Given the description of an element on the screen output the (x, y) to click on. 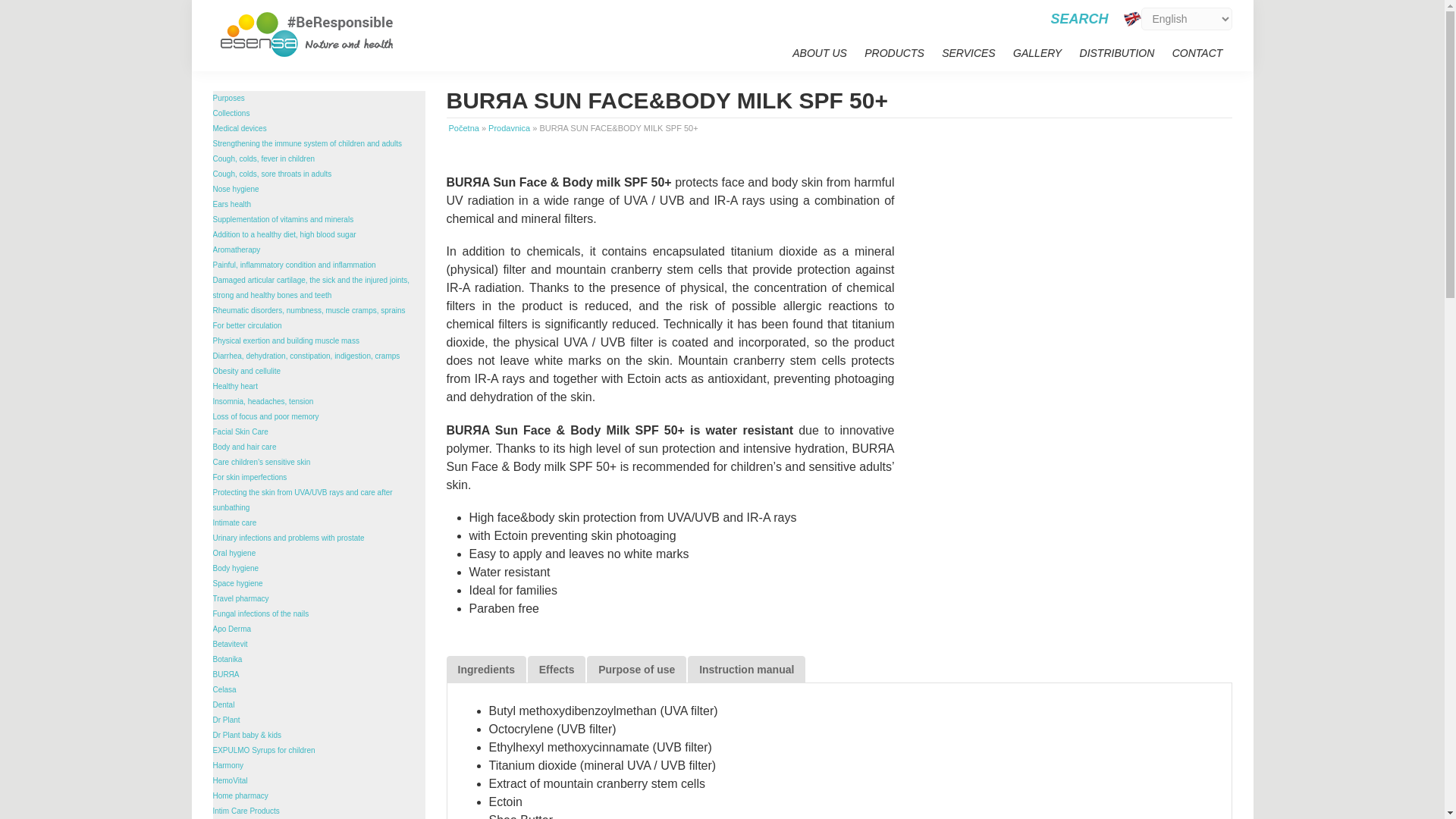
GALLERY (1037, 52)
HOME (767, 52)
Esensa (308, 33)
Esensa (1132, 18)
DISTRIBUTION (1115, 52)
SERVICES (968, 52)
ABOUT US (820, 52)
CONTACT (1196, 52)
PRODUCTS (894, 52)
